Given the description of an element on the screen output the (x, y) to click on. 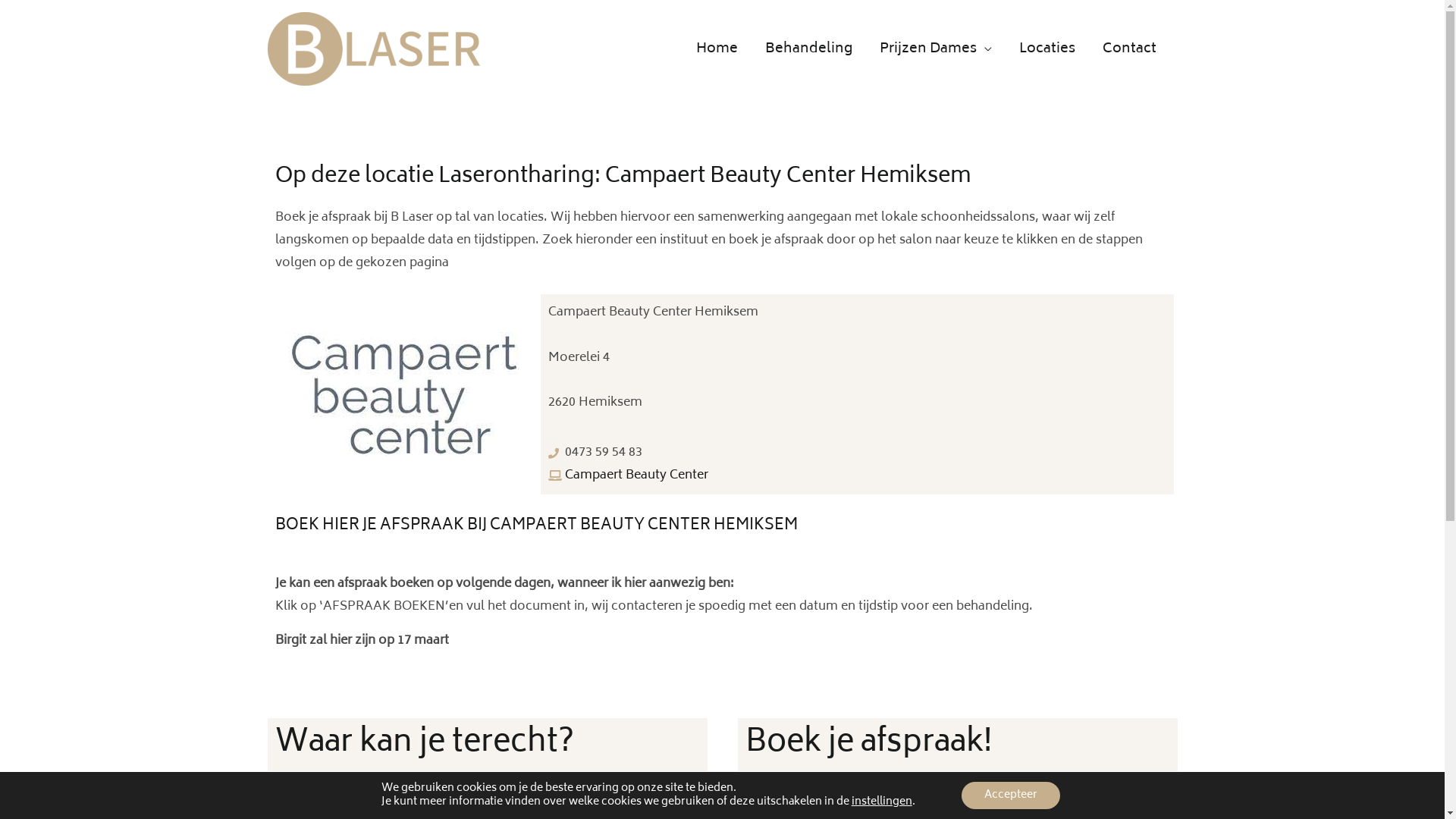
Locaties Element type: text (1046, 48)
Behandeling Element type: text (807, 48)
Campaert Beauty Center Element type: text (856, 475)
Home Element type: text (716, 48)
Contact Element type: text (1129, 48)
instellingen Element type: text (881, 802)
Prijzen Dames Element type: text (935, 48)
Accepteer Element type: text (1010, 795)
